Given the description of an element on the screen output the (x, y) to click on. 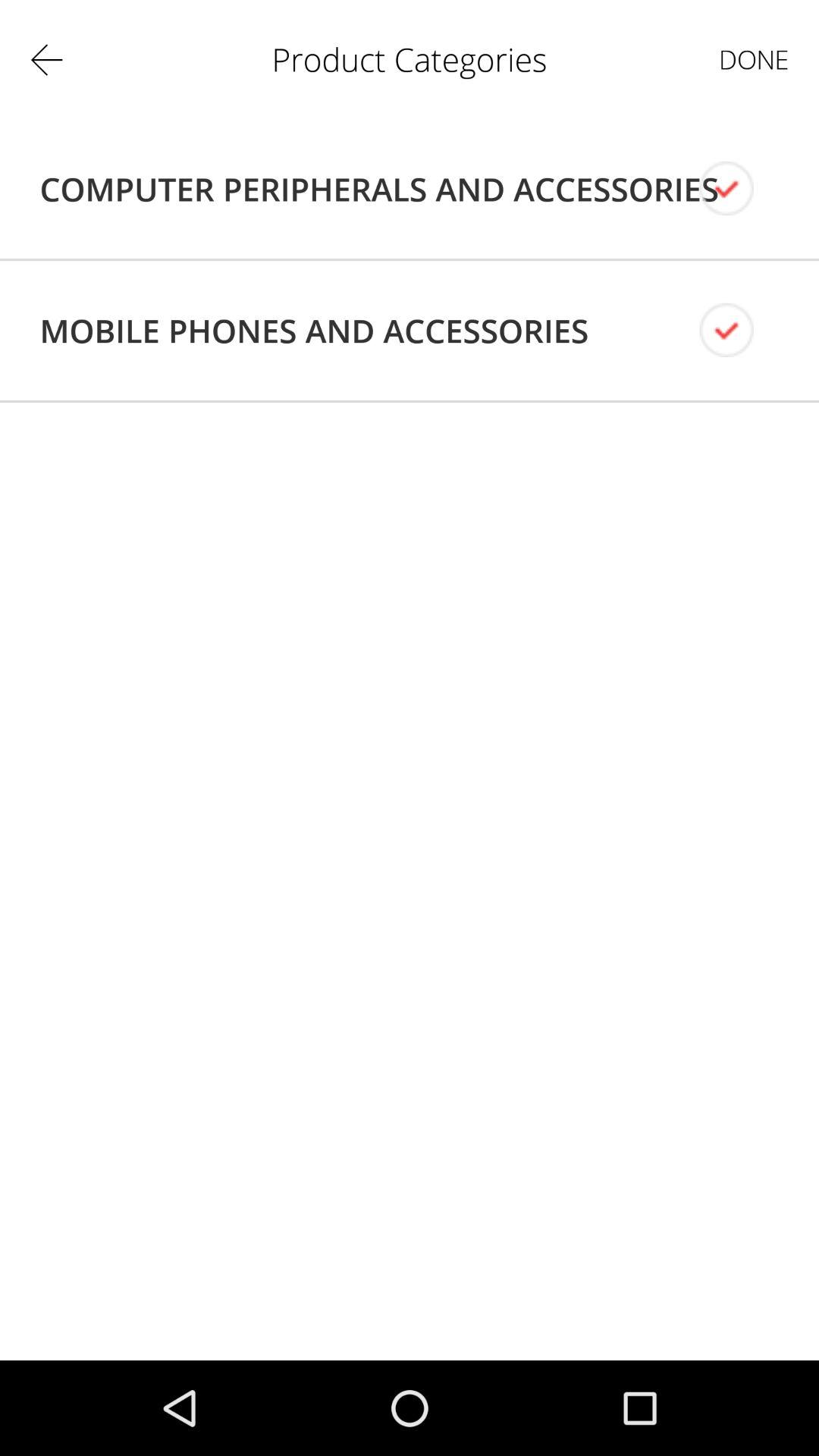
select the icon above the mobile phones and app (378, 188)
